Given the description of an element on the screen output the (x, y) to click on. 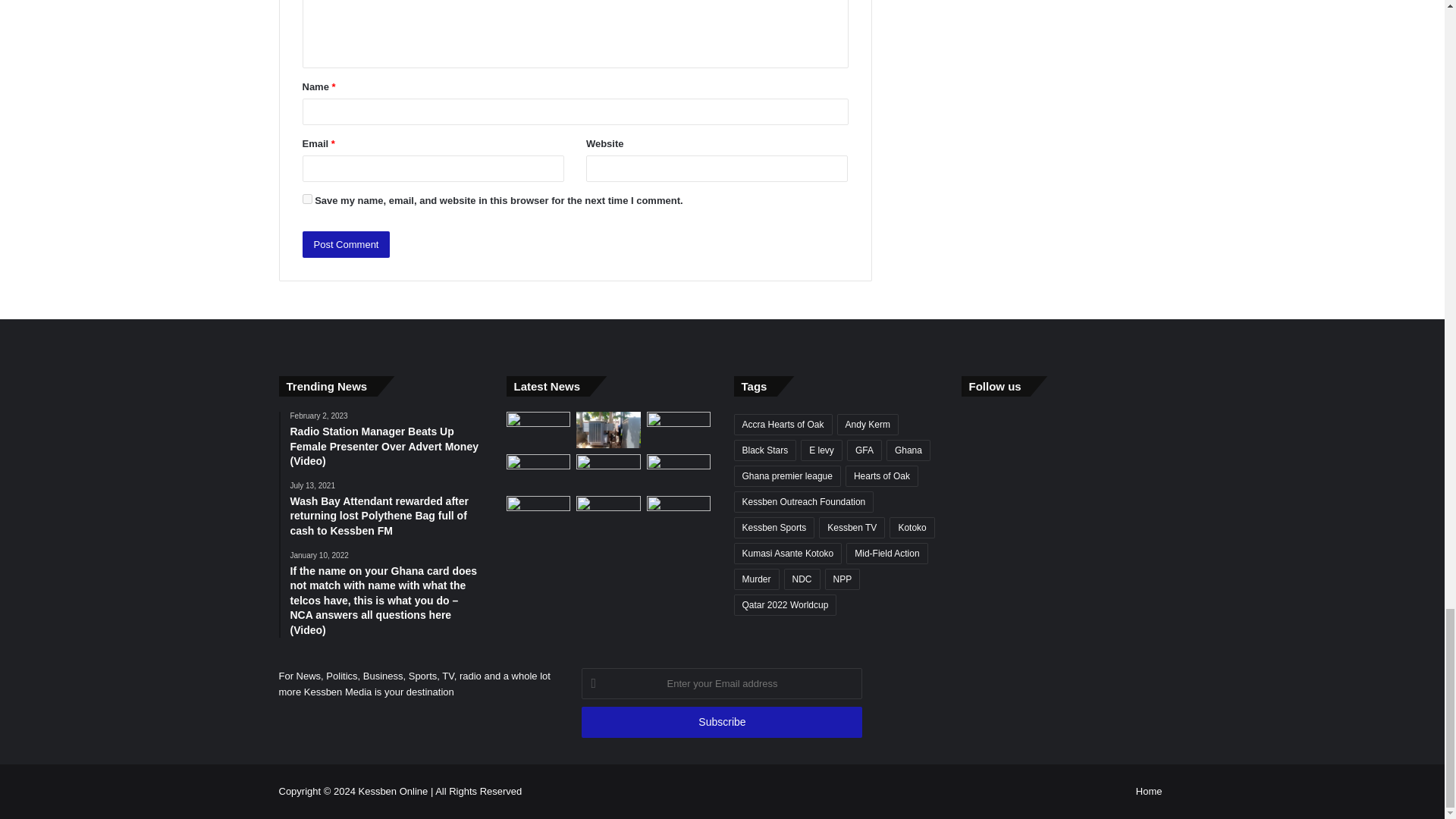
yes (306, 198)
Subscribe (720, 721)
Post Comment (345, 243)
